Given the description of an element on the screen output the (x, y) to click on. 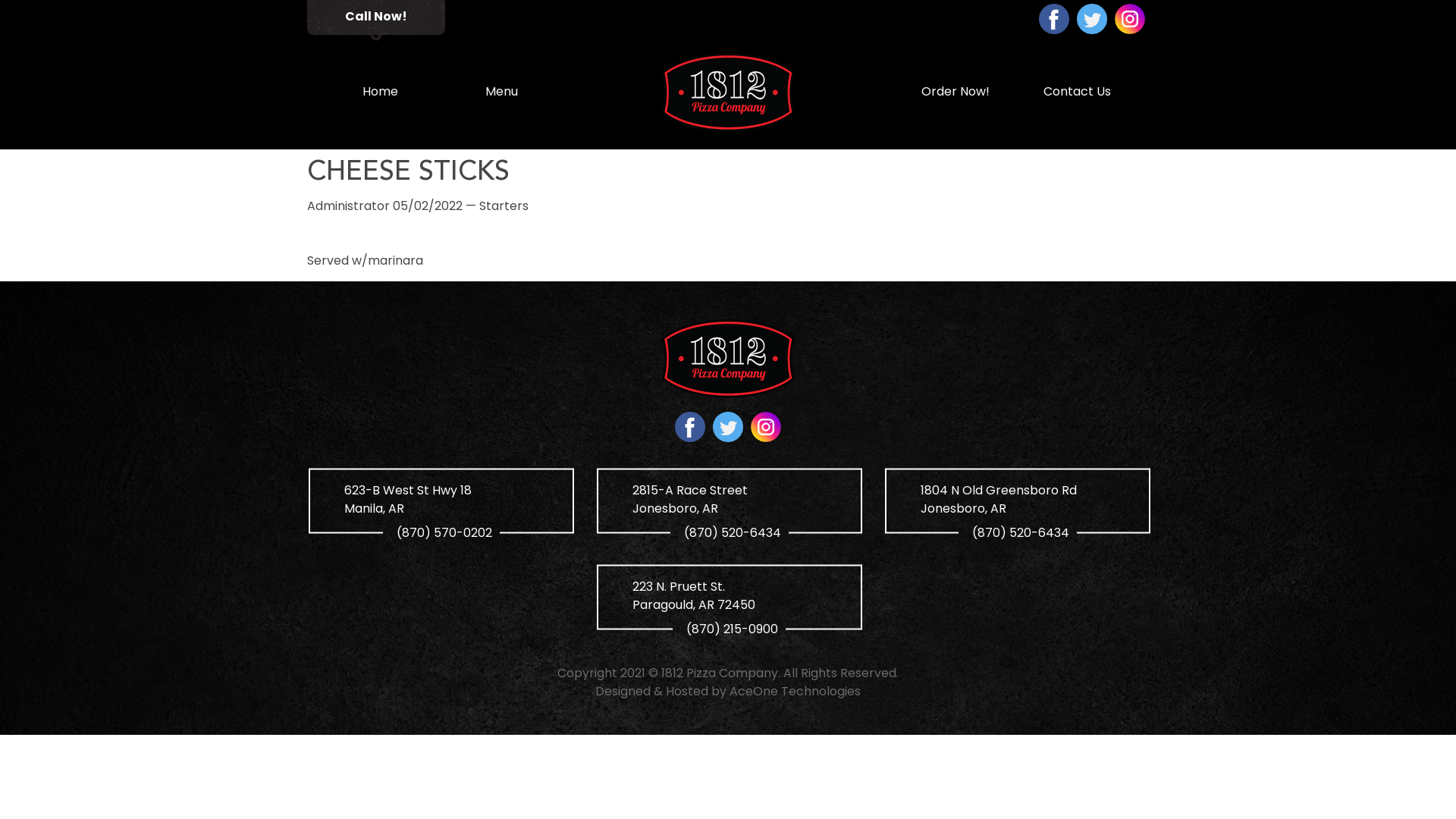
Menu Element type: text (501, 91)
Contact Us Element type: text (1076, 91)
(870) 520-6434 Element type: text (1017, 532)
Order Now! Element type: text (955, 91)
Call Now! Element type: text (376, 20)
Starters Element type: text (503, 205)
(870) 570-0202 Element type: text (441, 532)
1812 Pizza Company. Element type: text (720, 672)
(870) 520-6434 Element type: text (729, 532)
Home Element type: text (379, 91)
AceOne Technologies Element type: text (794, 690)
(870) 215-0900 Element type: text (729, 628)
